Given the description of an element on the screen output the (x, y) to click on. 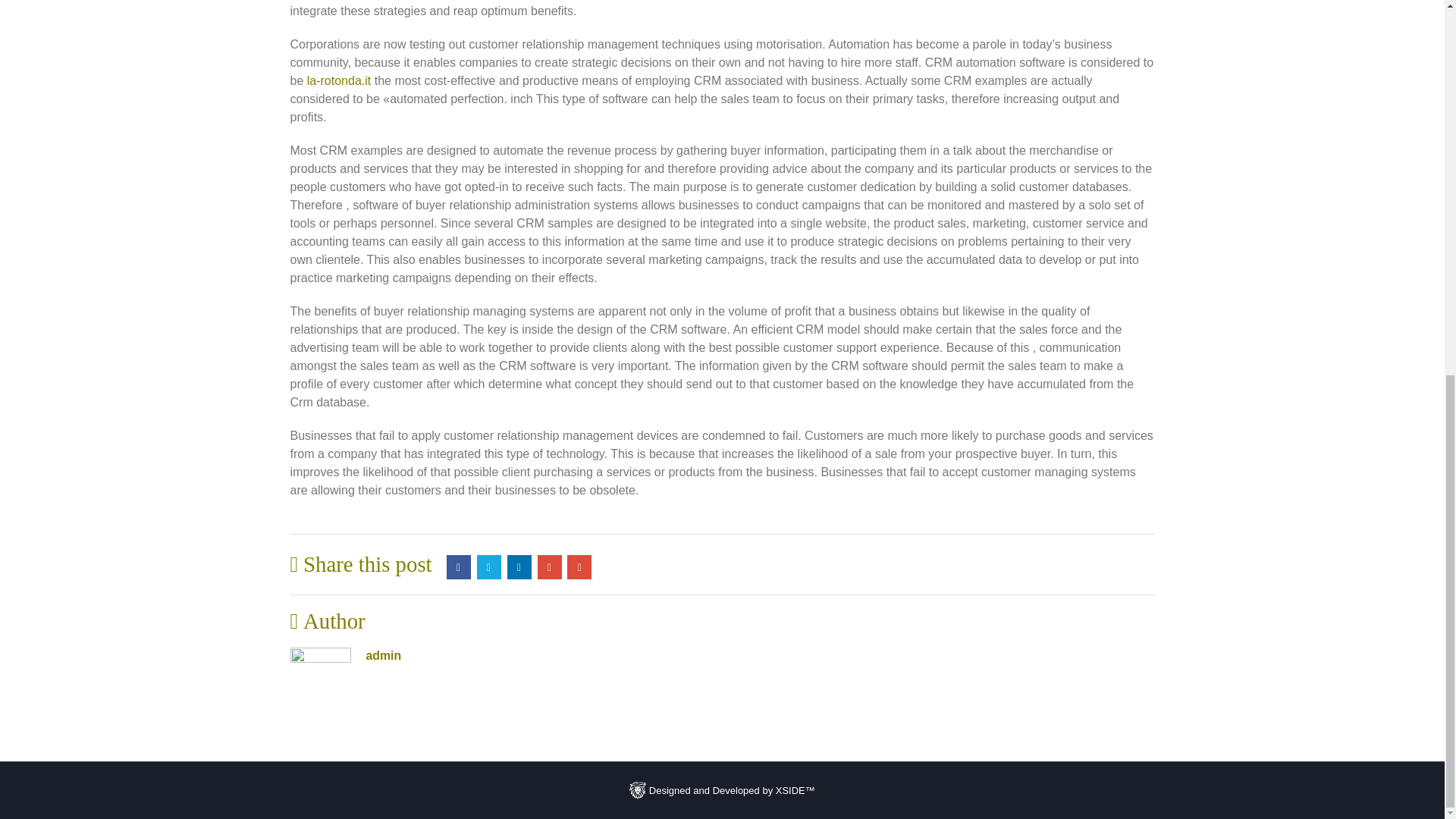
Twitter (488, 567)
www.xside.ee (721, 789)
la-rotonda.it (339, 80)
www.xside.ee (637, 790)
Email (579, 567)
Facebook (458, 567)
LinkedIn (518, 567)
admin (383, 655)
